Given the description of an element on the screen output the (x, y) to click on. 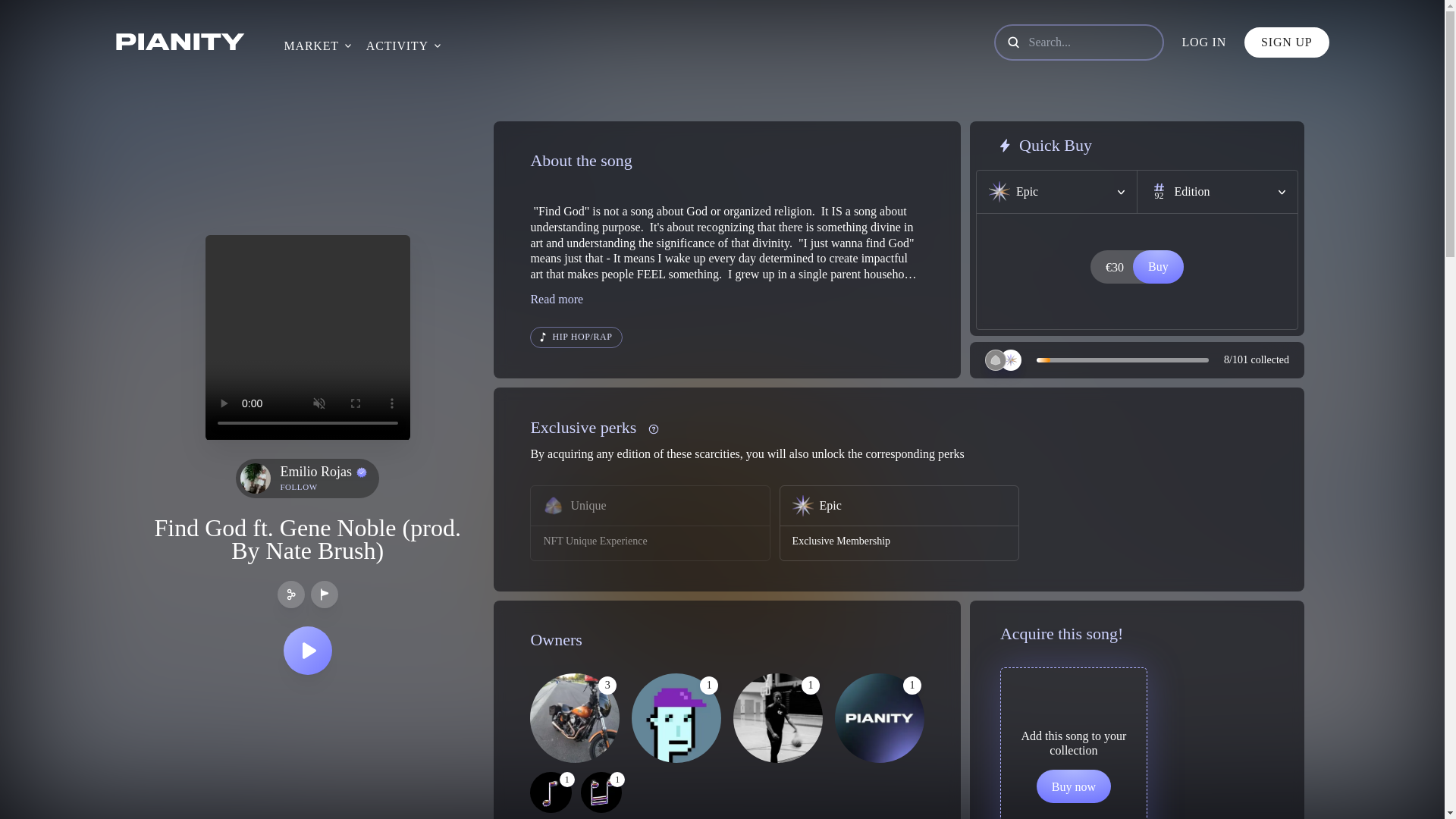
1 (549, 792)
ACTIVITY (397, 45)
Epic (1056, 191)
FOLLOW (1217, 191)
Read more (298, 487)
Emilio Rojas (556, 298)
SIGN UP (322, 472)
1 (649, 523)
